Given the description of an element on the screen output the (x, y) to click on. 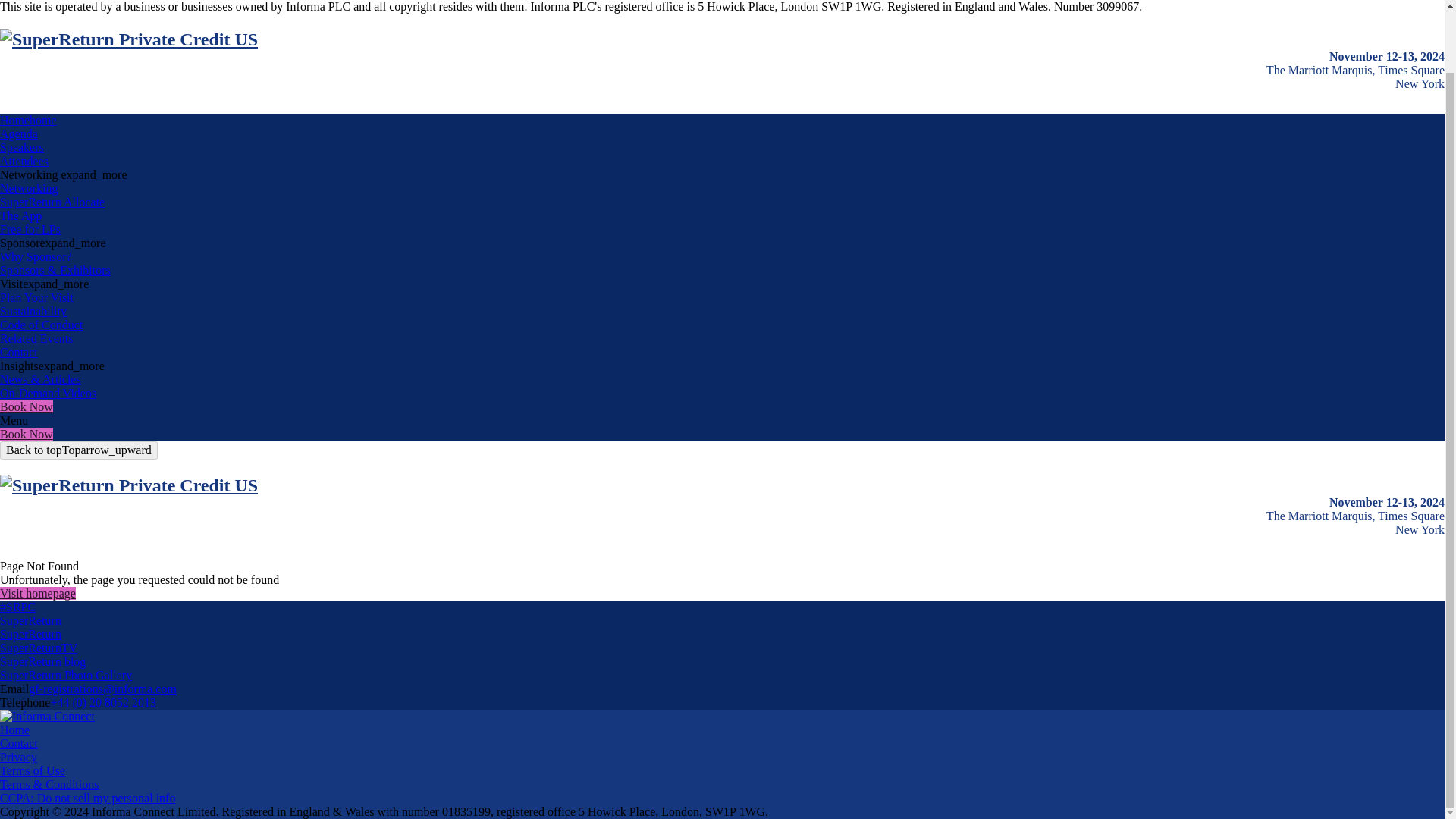
Book Now (26, 433)
Book Now (26, 406)
Code of Conduct (41, 324)
Contact (18, 743)
Why Sponsor? (35, 256)
SuperReturn (30, 620)
Privacy (18, 757)
SuperReturn blog (42, 661)
Terms of Use (32, 770)
Visit homepage (37, 593)
SuperReturn Photo Gallery (66, 675)
Sustainability (33, 310)
The App (21, 215)
Homehome (28, 119)
Plan Your Visit (37, 297)
